Given the description of an element on the screen output the (x, y) to click on. 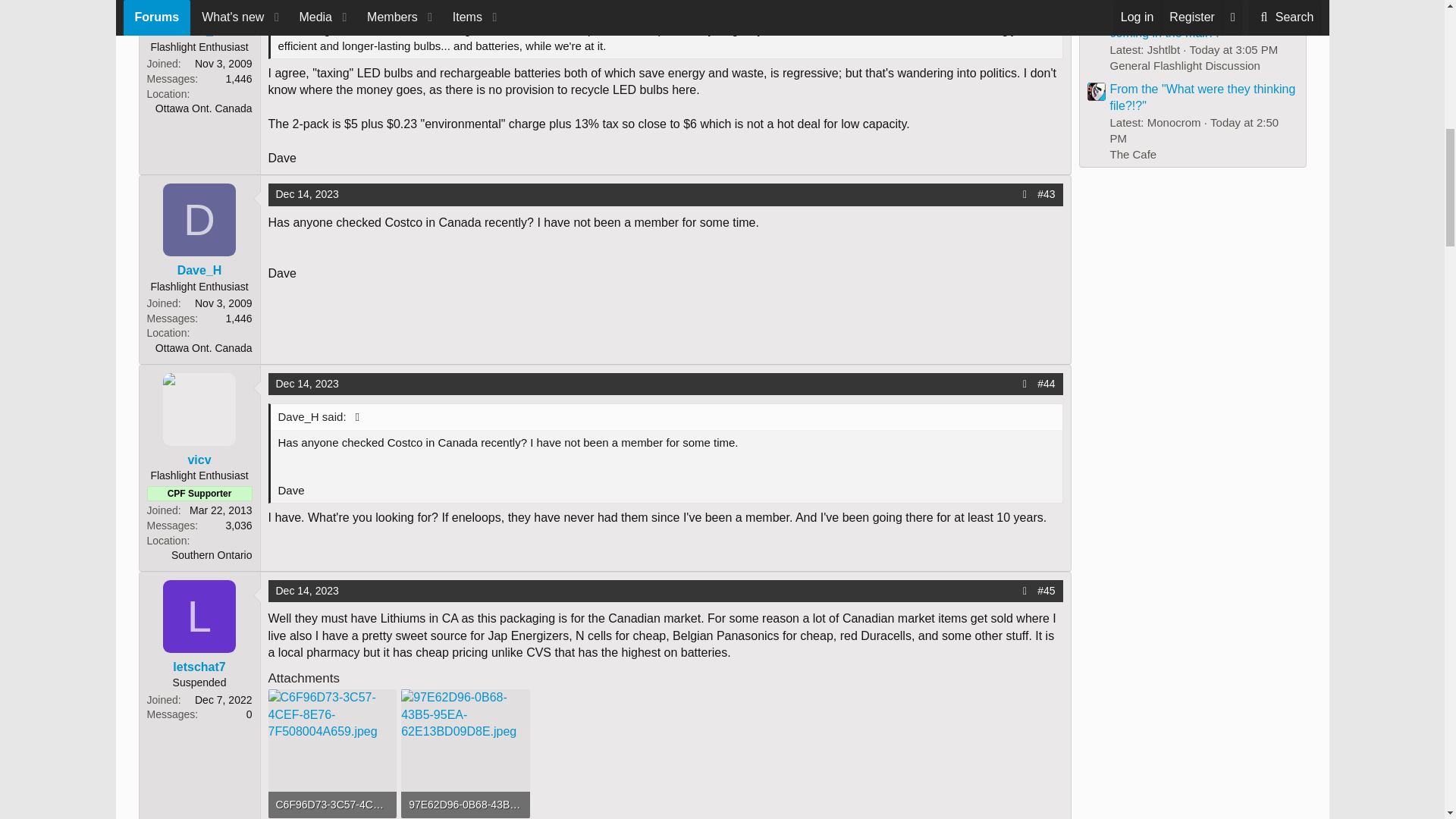
Dec 14, 2023 at 8:32 AM (307, 383)
Dec 14, 2023 at 10:46 AM (307, 590)
C6F96D73-3C57-4CEF-8E76-7F508004A659.jpeg (333, 804)
97E62D96-0B68-43B5-95EA-62E13BD09D8E.jpeg (465, 804)
Dec 14, 2023 at 8:24 AM (307, 193)
